Given the description of an element on the screen output the (x, y) to click on. 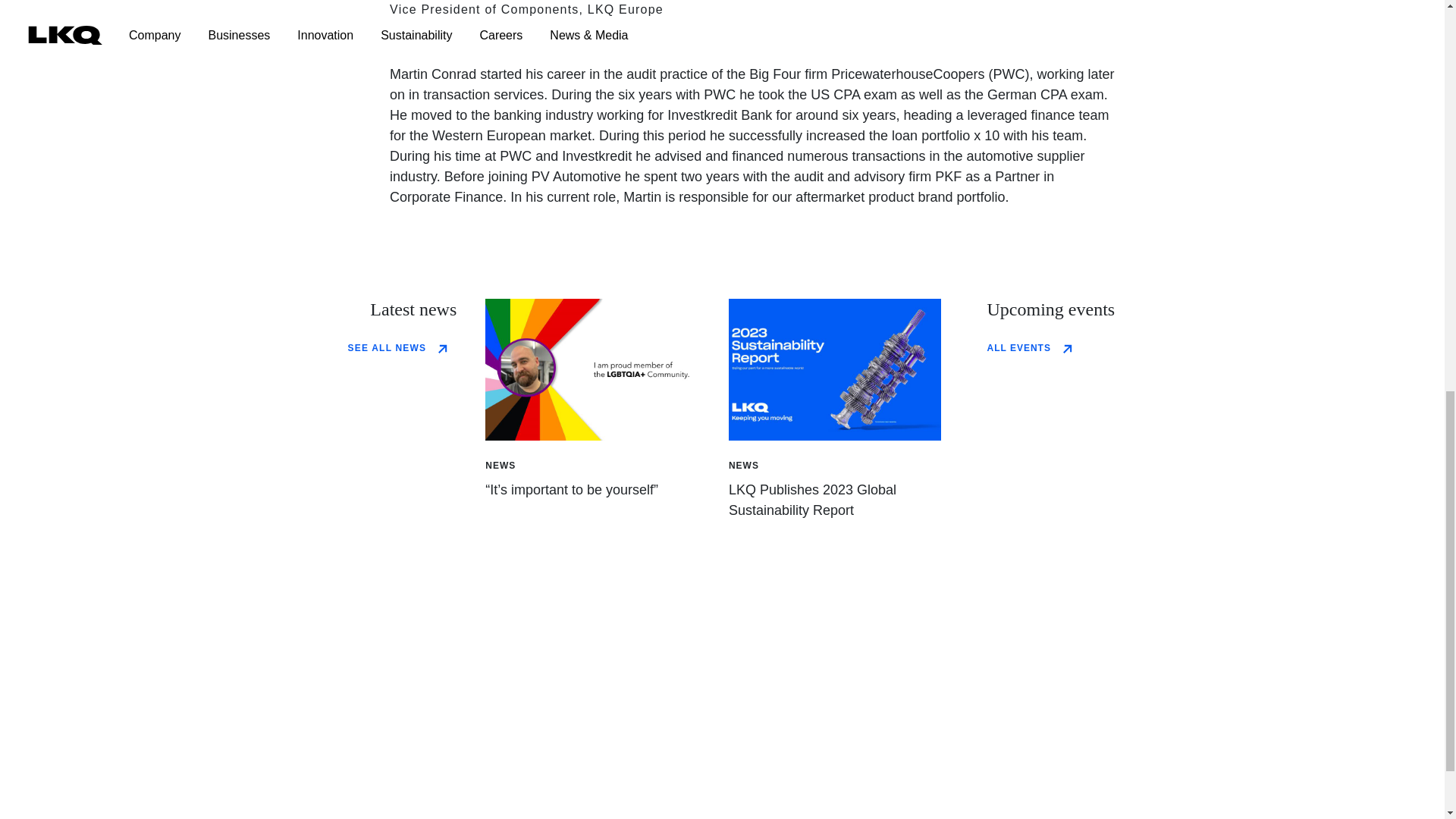
Dominique Reijman (591, 369)
